Given the description of an element on the screen output the (x, y) to click on. 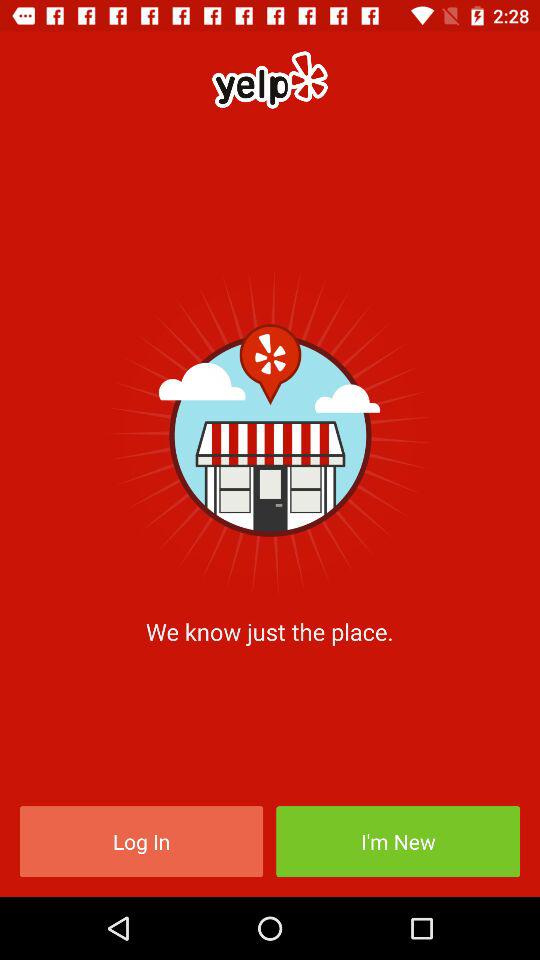
press icon below we know just (398, 841)
